Given the description of an element on the screen output the (x, y) to click on. 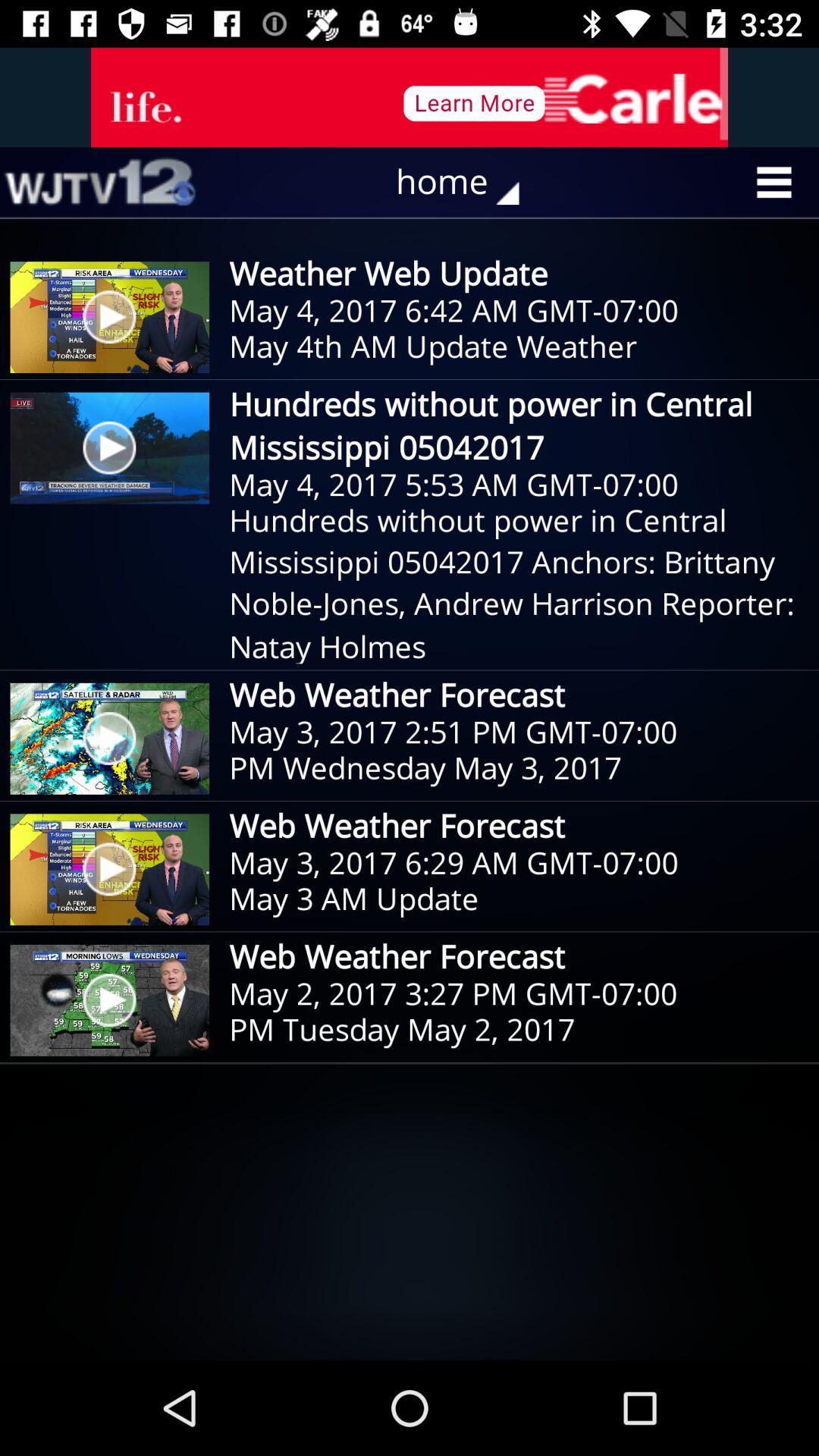
turn on the home icon (468, 182)
